Given the description of an element on the screen output the (x, y) to click on. 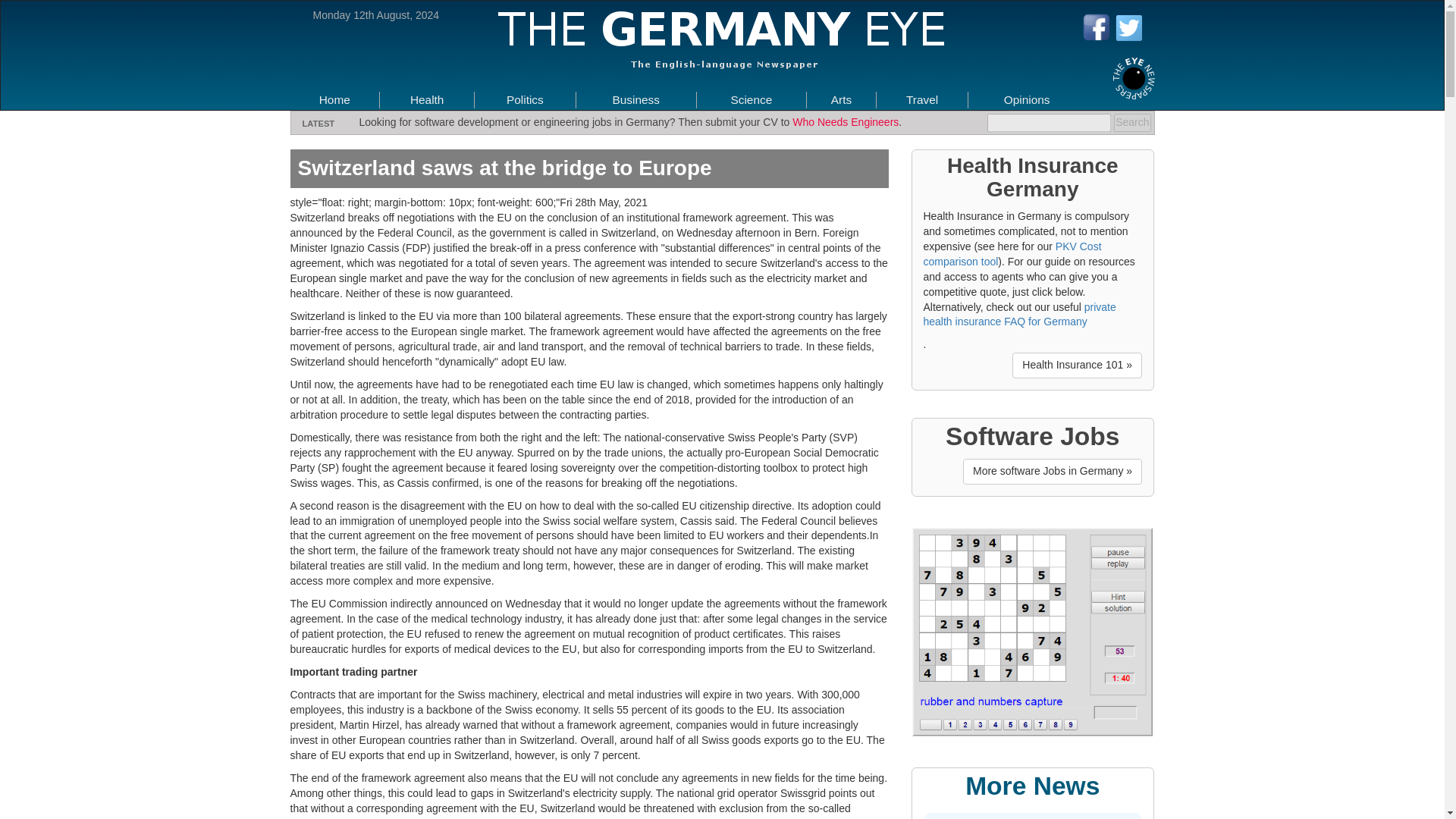
Germany Business News (635, 99)
Opinions (1026, 99)
Business (635, 99)
Germany Arts news (841, 99)
Science (750, 99)
Germany Health News (427, 99)
Germany News, Health Insurance, Engineering Jobs (334, 99)
Search (1131, 122)
The Germany Eye (1133, 77)
Travel (921, 99)
